Given the description of an element on the screen output the (x, y) to click on. 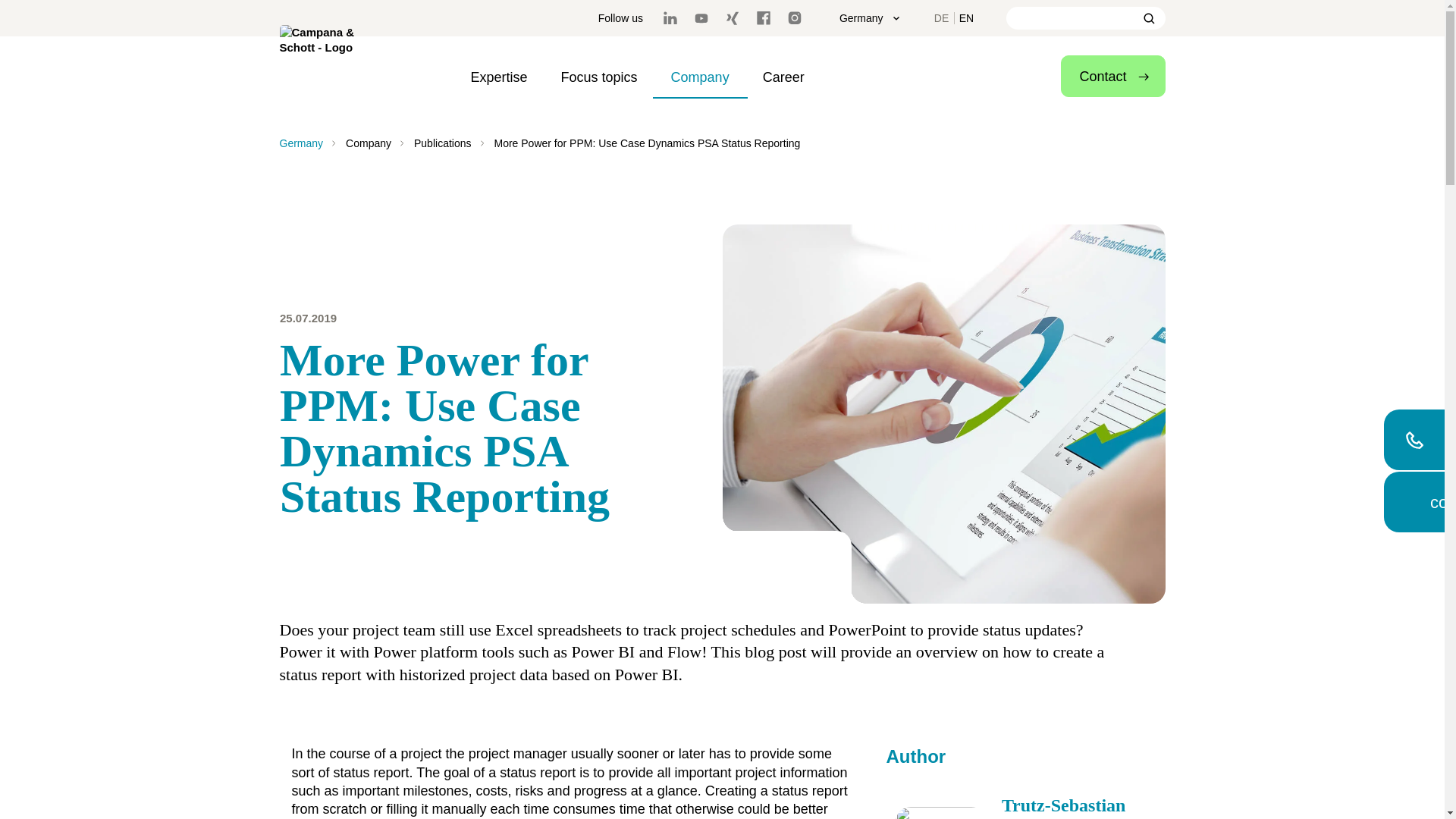
Expertise (498, 76)
EN (965, 18)
Expertise (498, 76)
DE (941, 18)
To main page (328, 74)
